Given the description of an element on the screen output the (x, y) to click on. 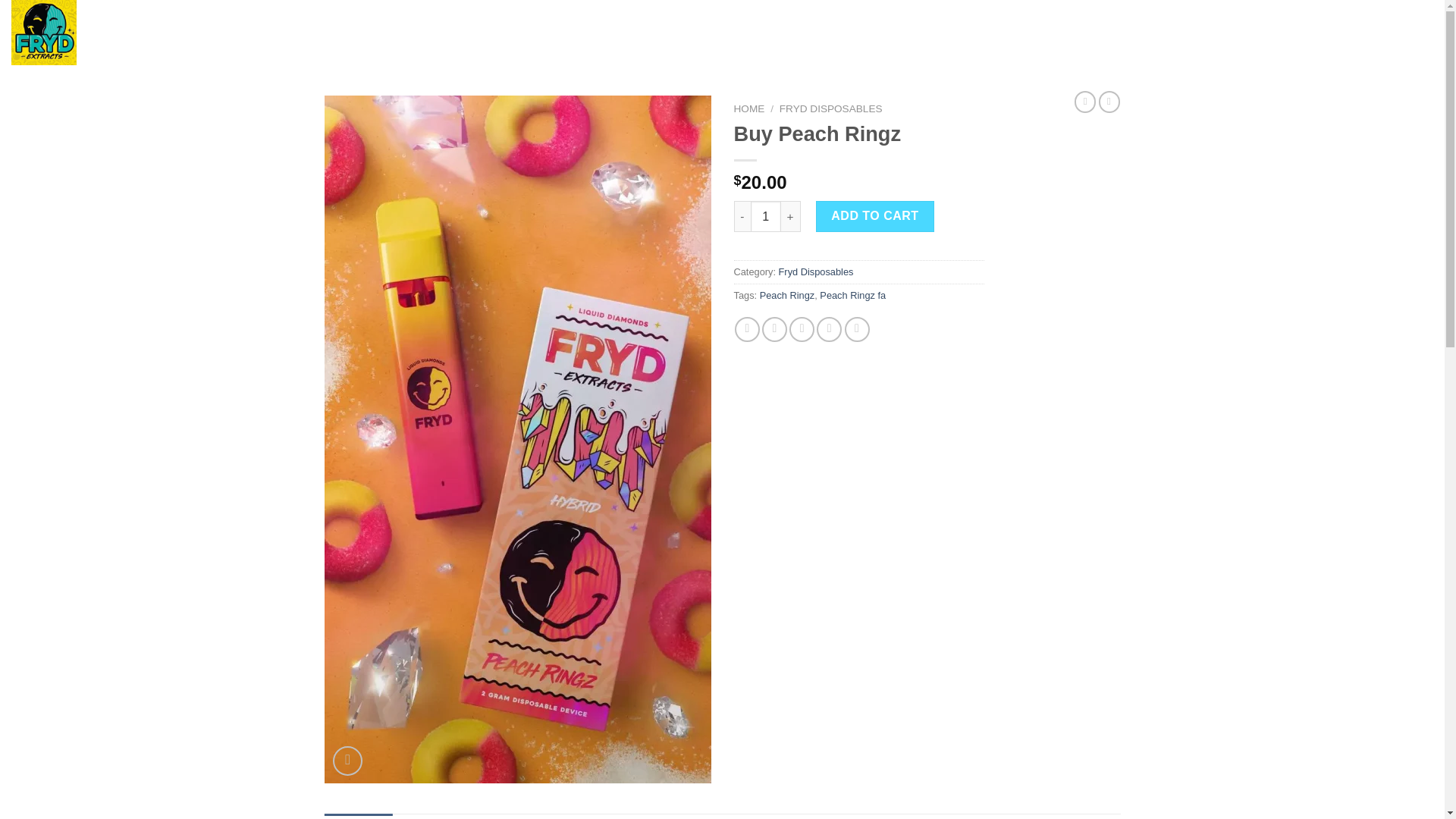
Cart (1387, 32)
FRYD DISPOSABLES (830, 108)
Share on Facebook (747, 329)
HOME (749, 108)
Fryd Disposable Carts - Buy Fryd Carts Online (150, 32)
DESCRIPTION (358, 816)
Fryd Disposables (815, 271)
Zoom (347, 760)
Share on Twitter (774, 329)
HOME (349, 32)
- (742, 215)
ADD TO CART (874, 215)
Peach Ringz (787, 295)
1 (765, 215)
